Given the description of an element on the screen output the (x, y) to click on. 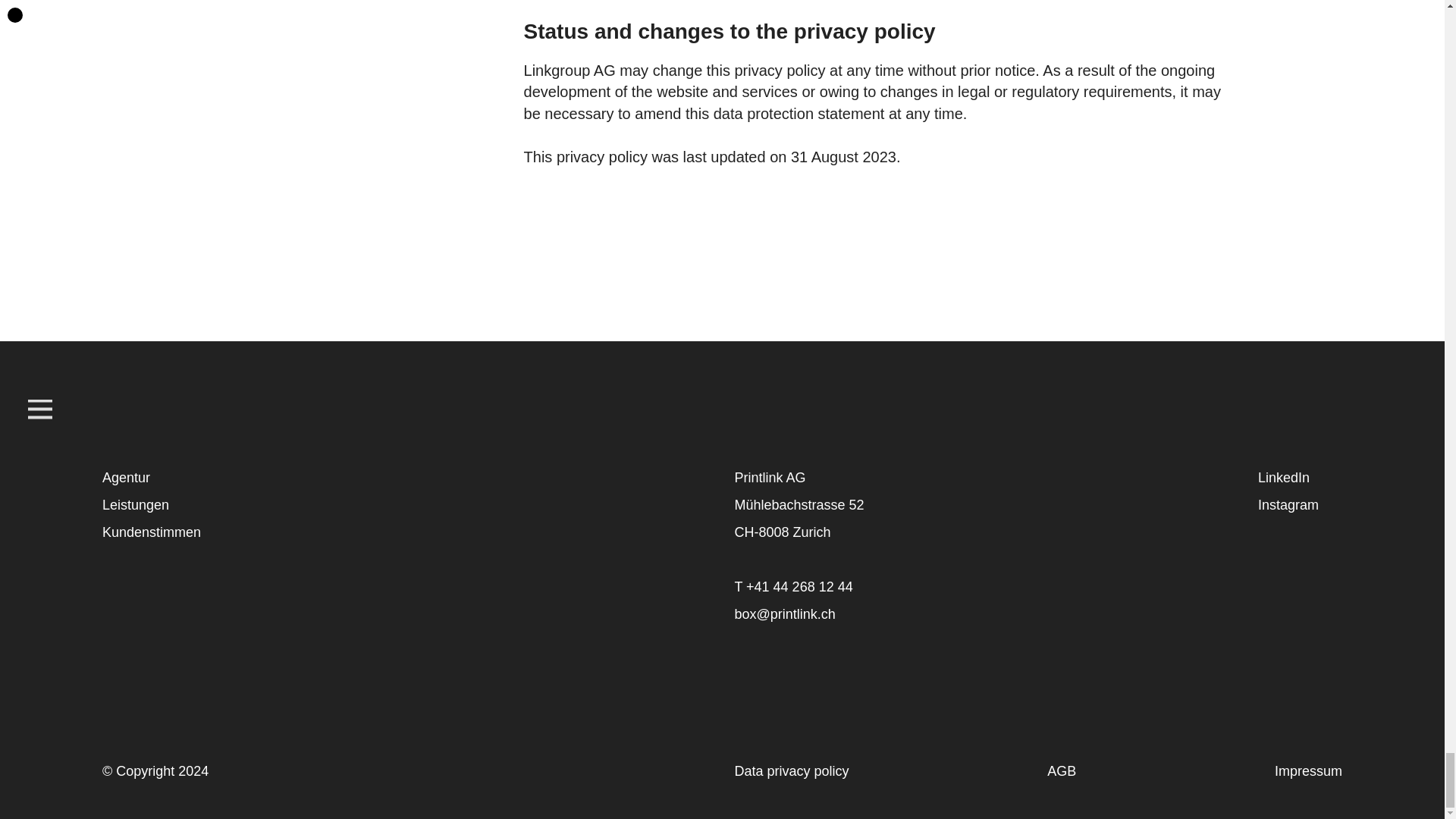
Agentur (125, 477)
Agentur (125, 477)
AGB (1060, 770)
LinkedIn (1282, 477)
Leistungen (134, 504)
Data privacy policy (790, 770)
Instagram (1288, 504)
Kundenstimmen (150, 531)
